Given the description of an element on the screen output the (x, y) to click on. 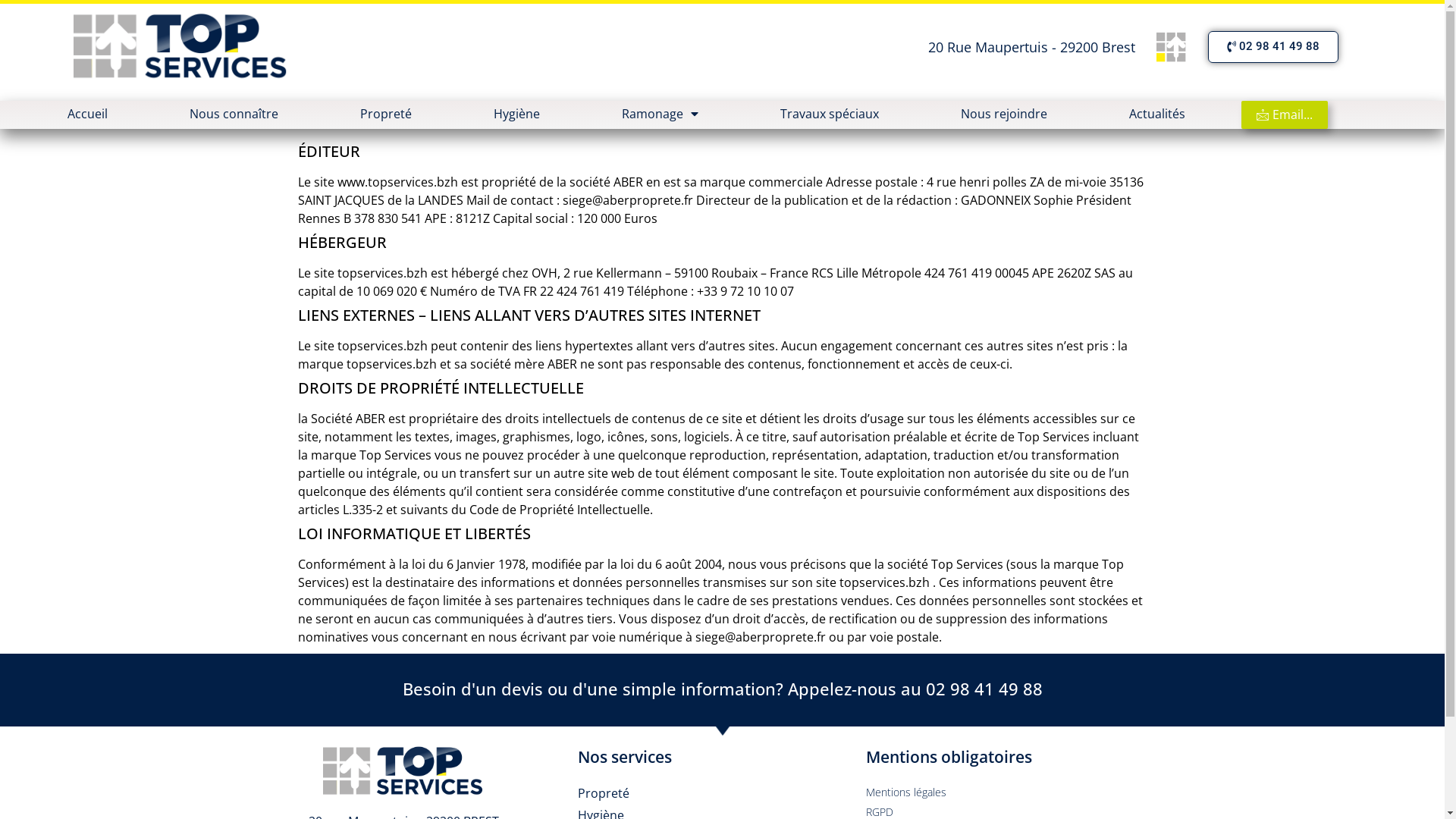
favicon Element type: hover (1171, 46)
Email... Element type: text (1284, 114)
02 98 41 49 88 Element type: text (1273, 46)
Accueil Element type: text (87, 112)
Ramonage Element type: text (659, 112)
Nous rejoindre Element type: text (1003, 112)
20 Rue Maupertuis - 29200 Brest Element type: text (1031, 46)
